Given the description of an element on the screen output the (x, y) to click on. 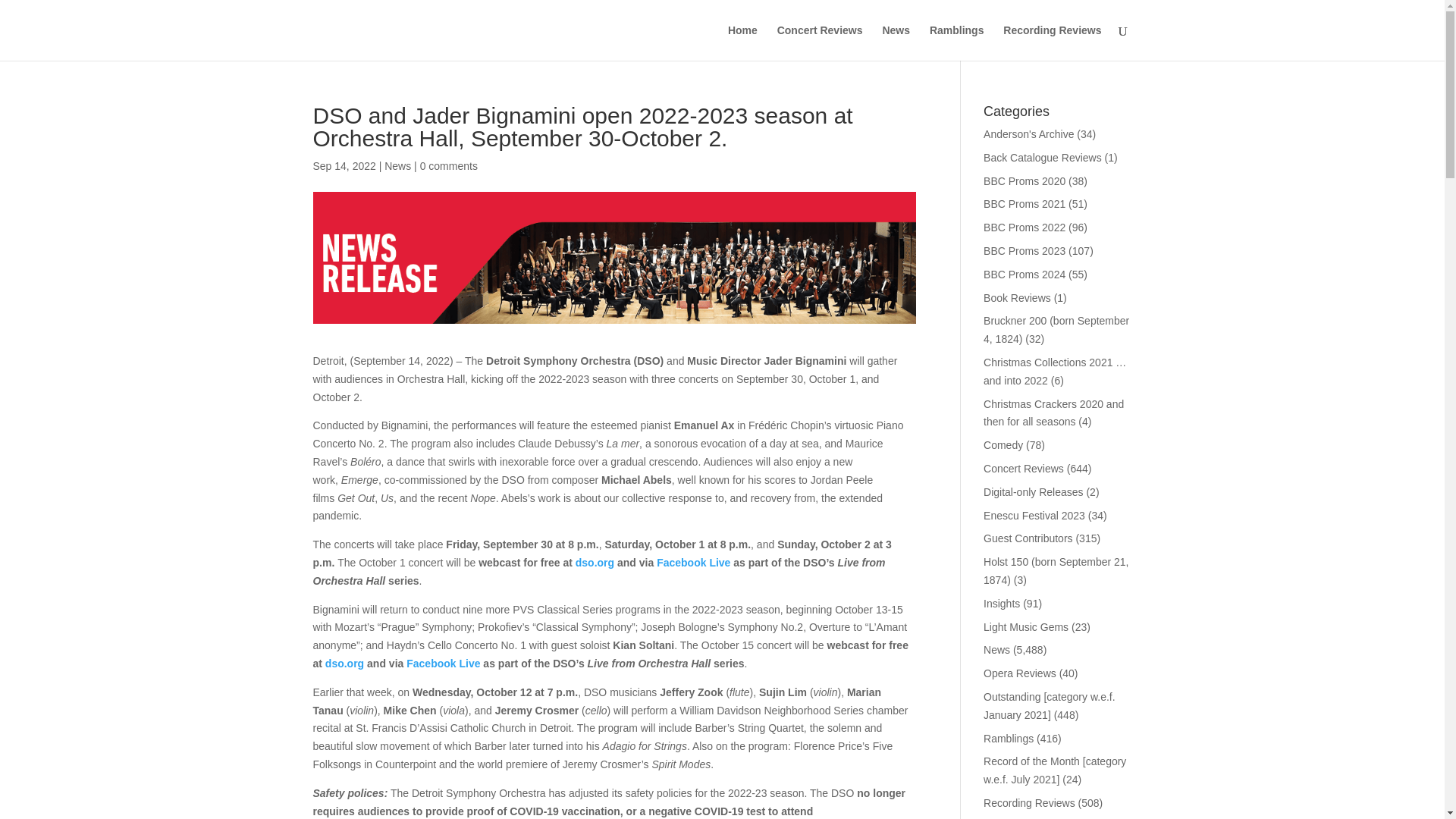
BBC Proms 2020 (1024, 181)
Anderson's Archive (1029, 133)
BBC Proms 2021 (1024, 203)
Concert Reviews (820, 42)
0 comments (448, 165)
Recording Reviews (1051, 42)
Guest Contributors (1028, 538)
BBC Proms 2024 (1024, 274)
Facebook Live (443, 663)
dso.org (344, 663)
